Given the description of an element on the screen output the (x, y) to click on. 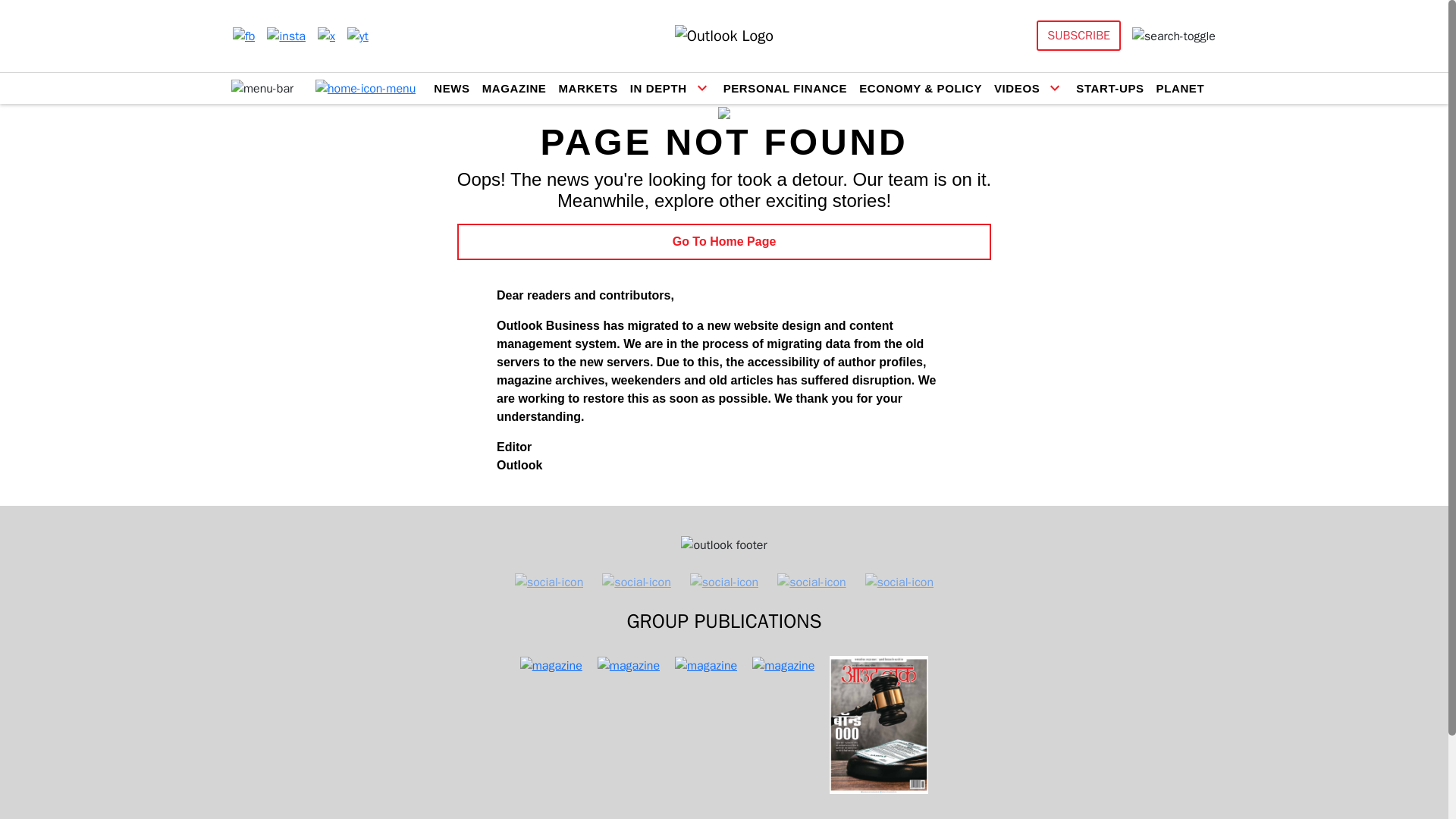
MAGAZINE (514, 88)
START-UPS (1108, 88)
IN DEPTH (658, 88)
SUBSCRIBE (1078, 35)
MARKETS (587, 88)
PERSONAL FINANCE (785, 88)
PLANET (1180, 88)
VIDEOS (1016, 88)
NEWS (450, 88)
